Given the description of an element on the screen output the (x, y) to click on. 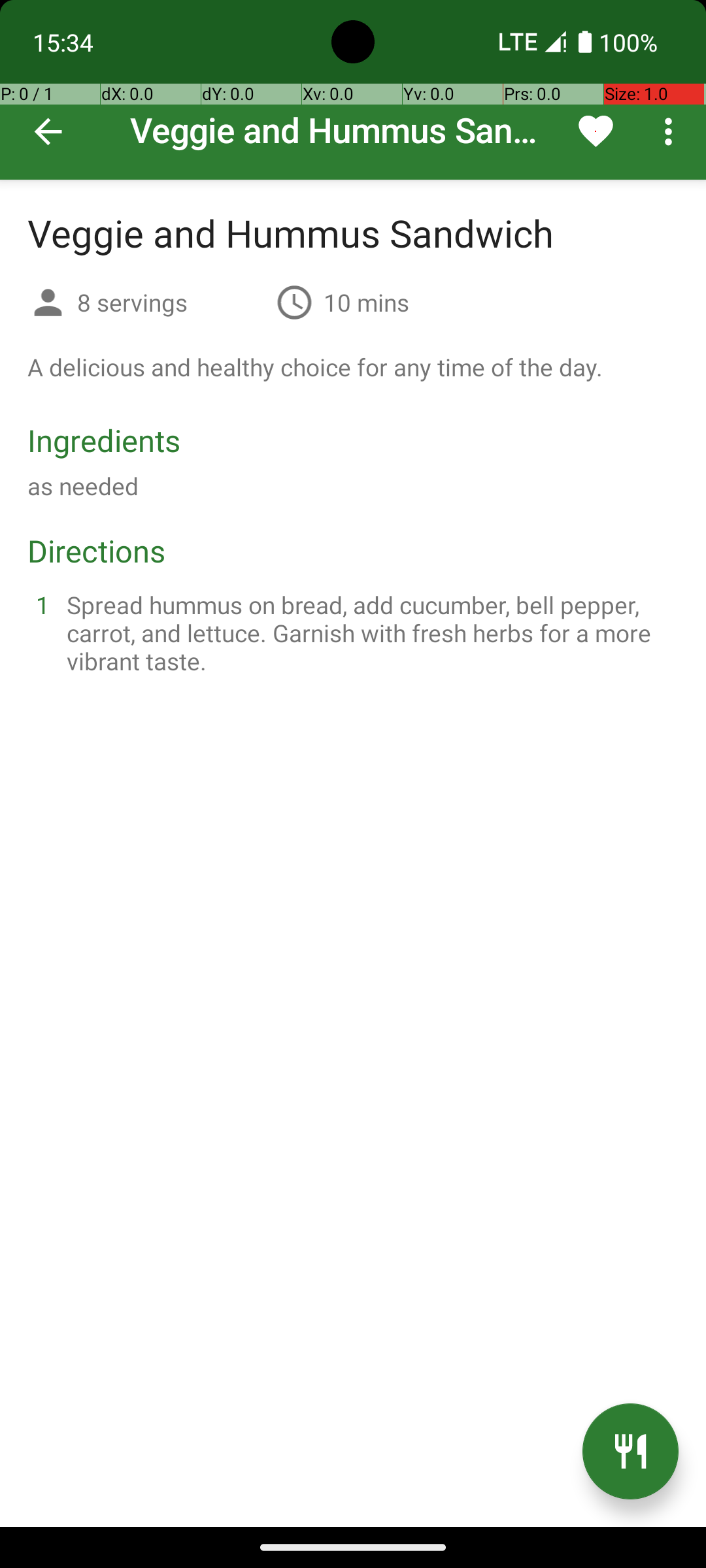
Veggie and Hummus Sandwich Element type: android.widget.FrameLayout (353, 89)
Spread hummus on bread, add cucumber, bell pepper, carrot, and lettuce. Garnish with fresh herbs for a more vibrant taste. Element type: android.widget.TextView (368, 632)
